Given the description of an element on the screen output the (x, y) to click on. 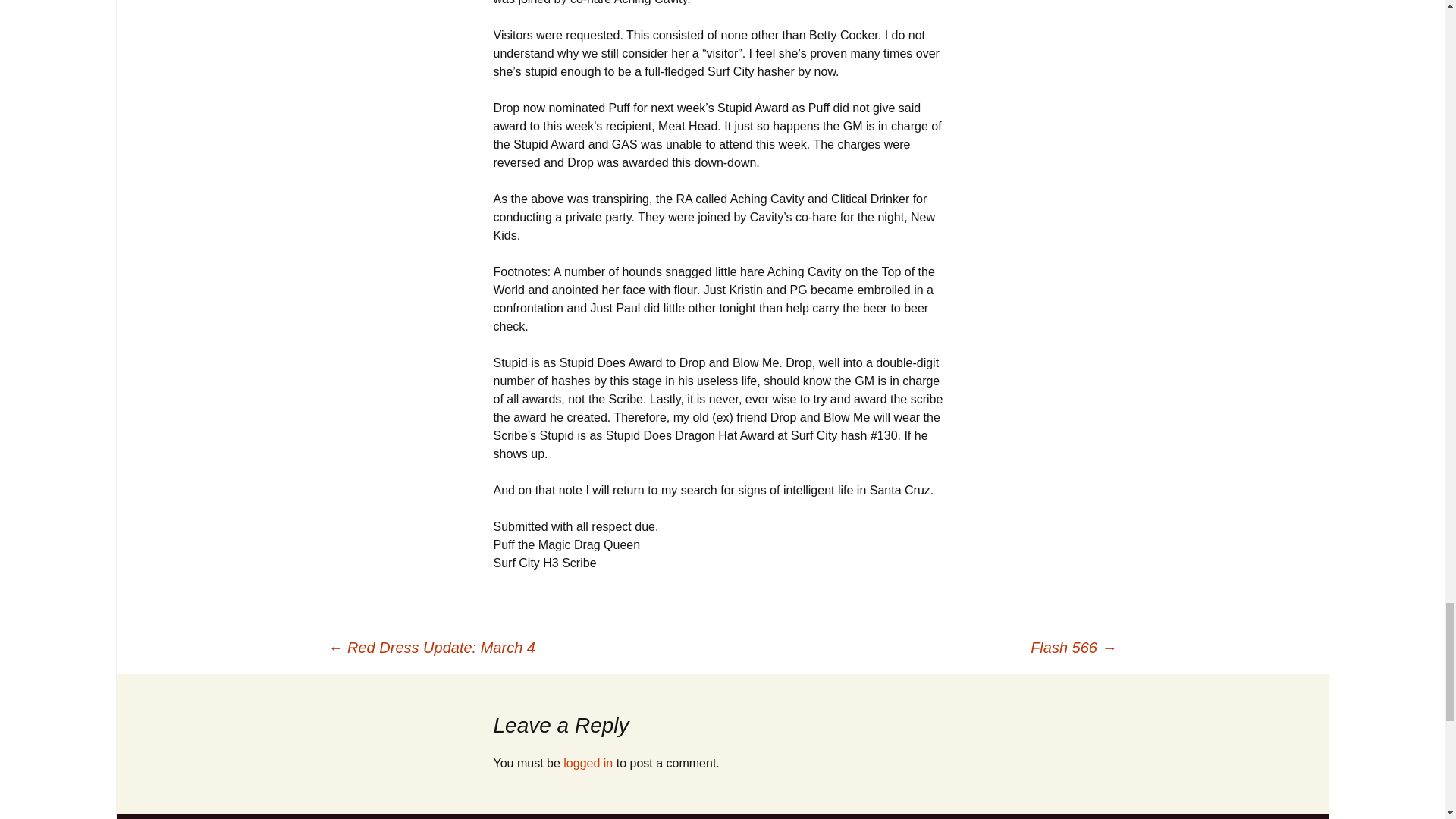
logged in (587, 762)
